Given the description of an element on the screen output the (x, y) to click on. 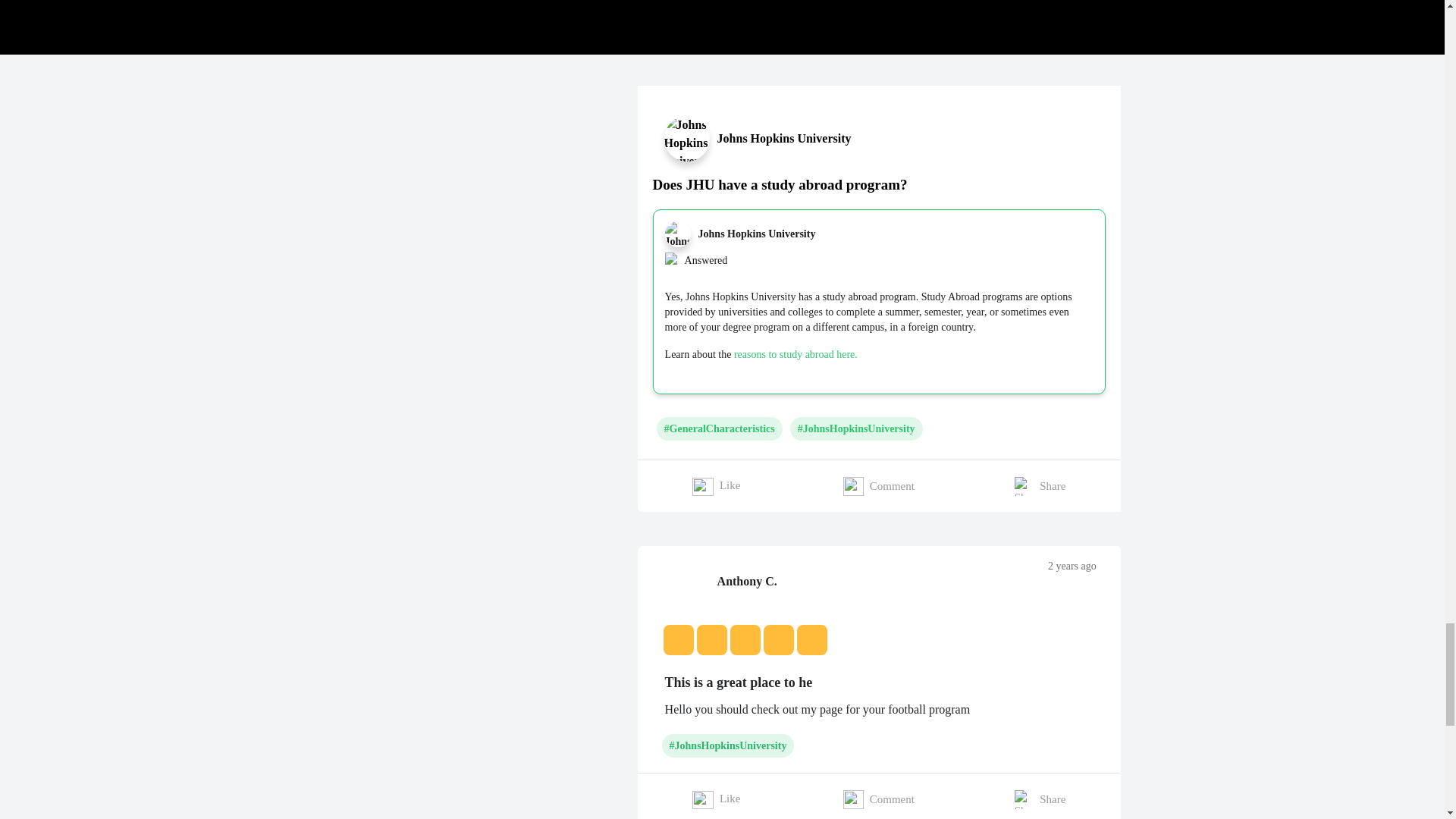
2022-07-31 08:50 (1072, 565)
